Given the description of an element on the screen output the (x, y) to click on. 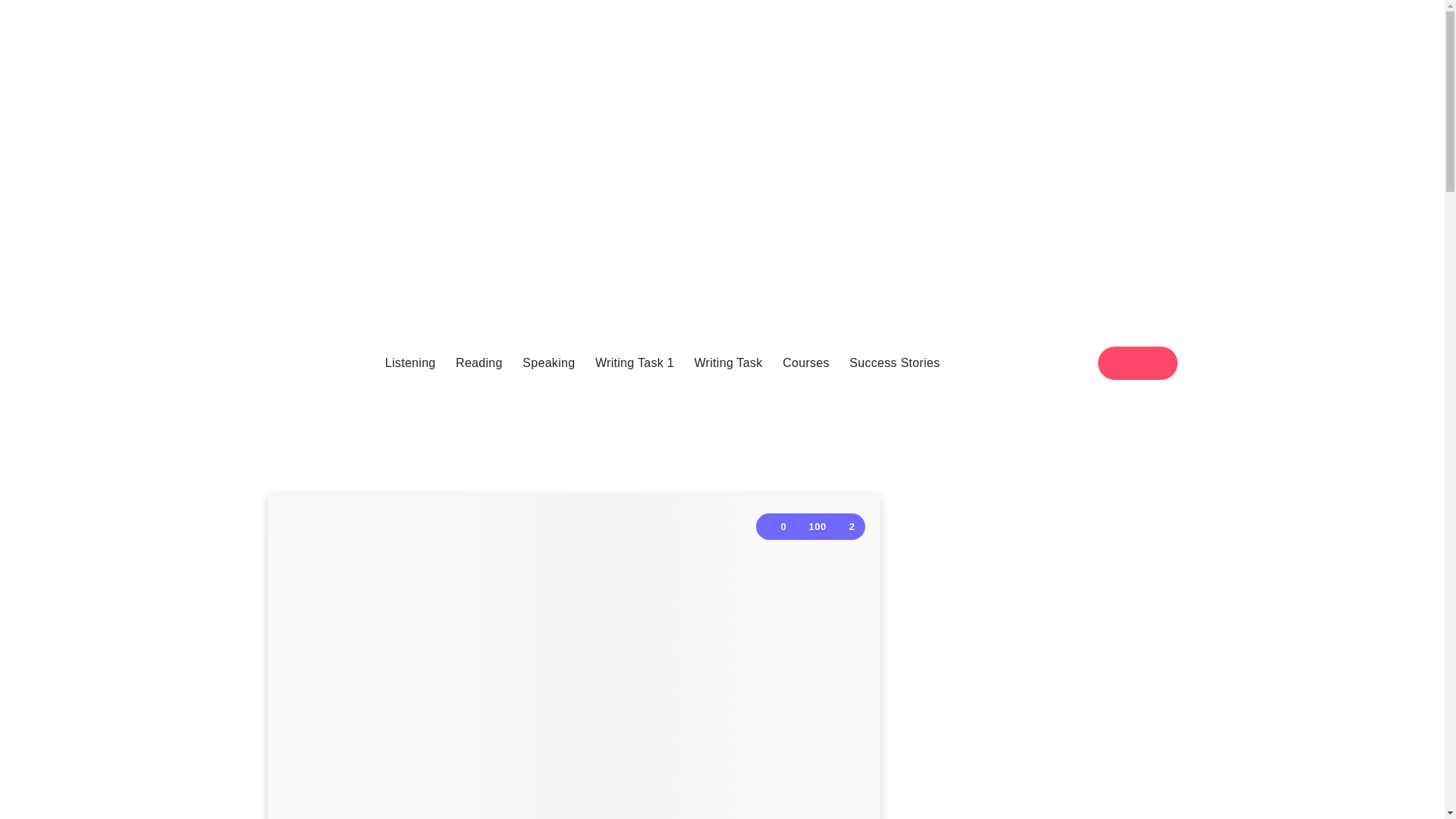
Listening (410, 363)
0 Comments (777, 526)
2 Min Read (845, 526)
Reading (478, 363)
100 Views (809, 526)
Speaking (548, 363)
Success Stories (893, 363)
Writing Task 1 (634, 363)
Writing Task (727, 363)
Courses (806, 363)
0 (777, 526)
